Given the description of an element on the screen output the (x, y) to click on. 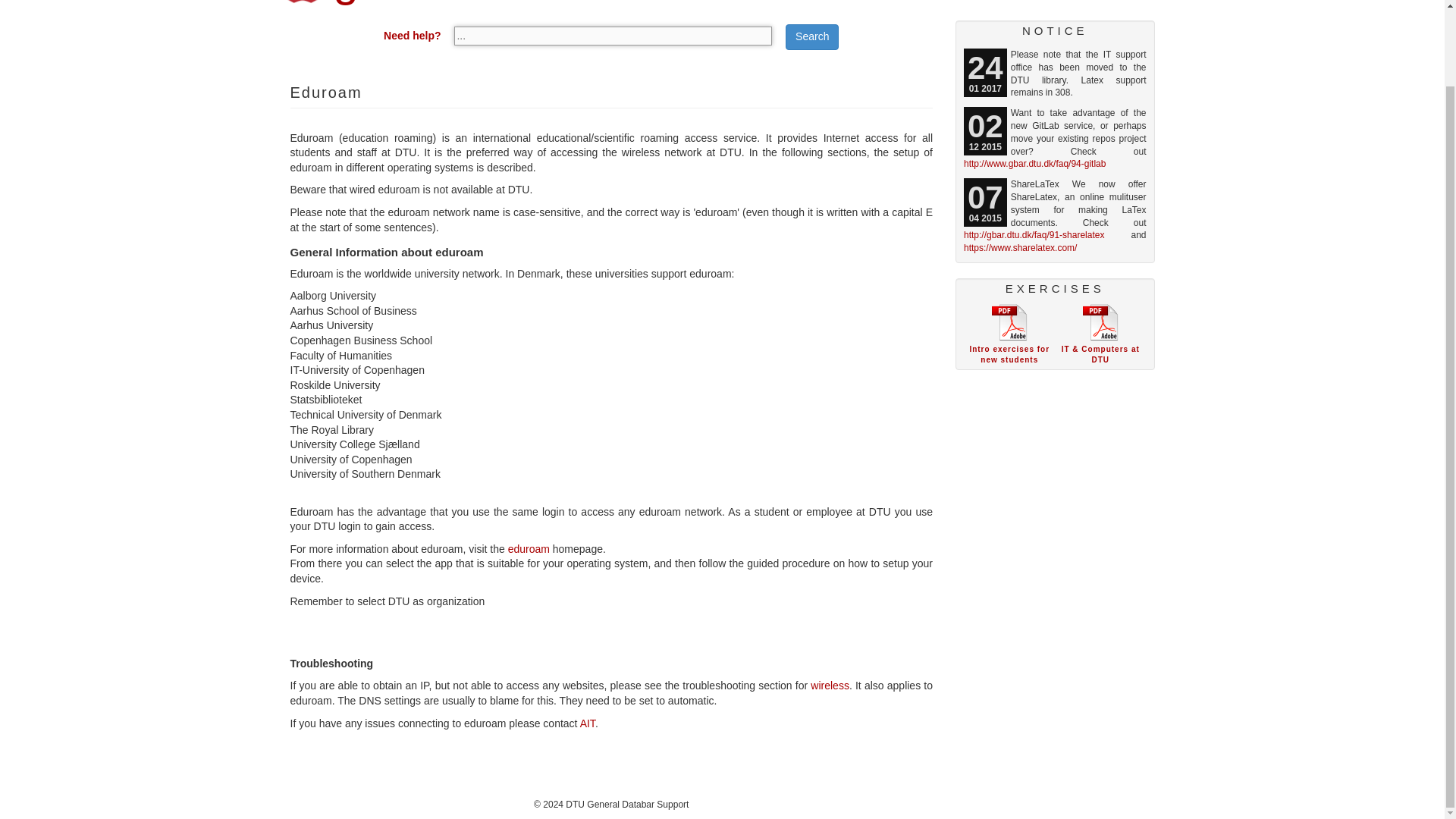
AIT (587, 723)
eduroam (529, 548)
Search (812, 36)
wireless (829, 685)
